Given the description of an element on the screen output the (x, y) to click on. 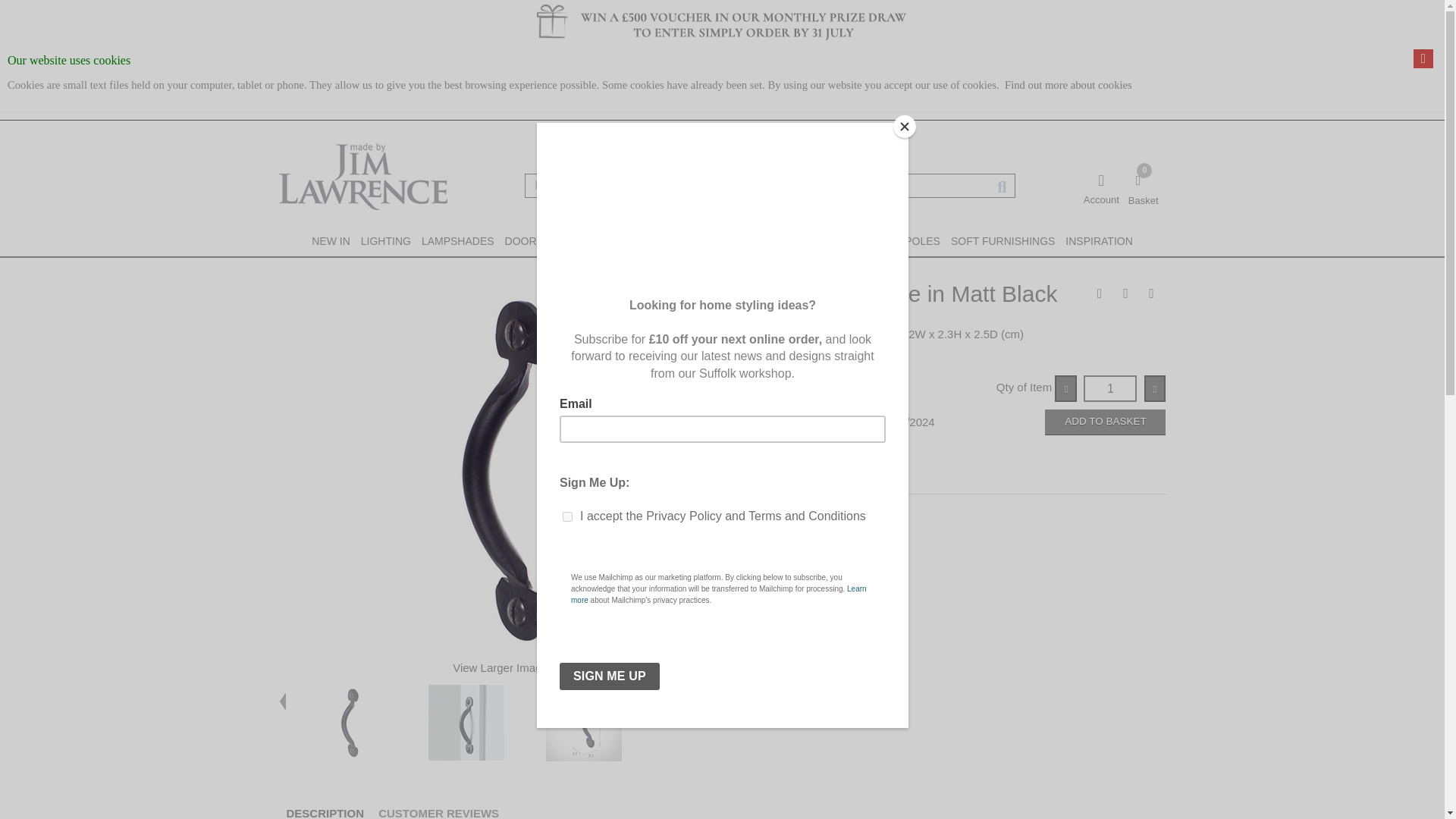
Stoke Pull Handle in Matt Black (583, 722)
Go (1001, 186)
LIGHTING (385, 241)
Add to Basket (1105, 421)
Stoke Pull Handle in Matt Black (349, 722)
Account (1101, 183)
Nav-to-Net2 (362, 176)
1 (1110, 388)
Stoke Pull Handle in Matt Black (465, 722)
Stoke Pull Handle in Matt Black (701, 722)
NEW IN (330, 241)
Tell a friend (1125, 295)
Print this page (1098, 295)
Go (1143, 190)
